Given the description of an element on the screen output the (x, y) to click on. 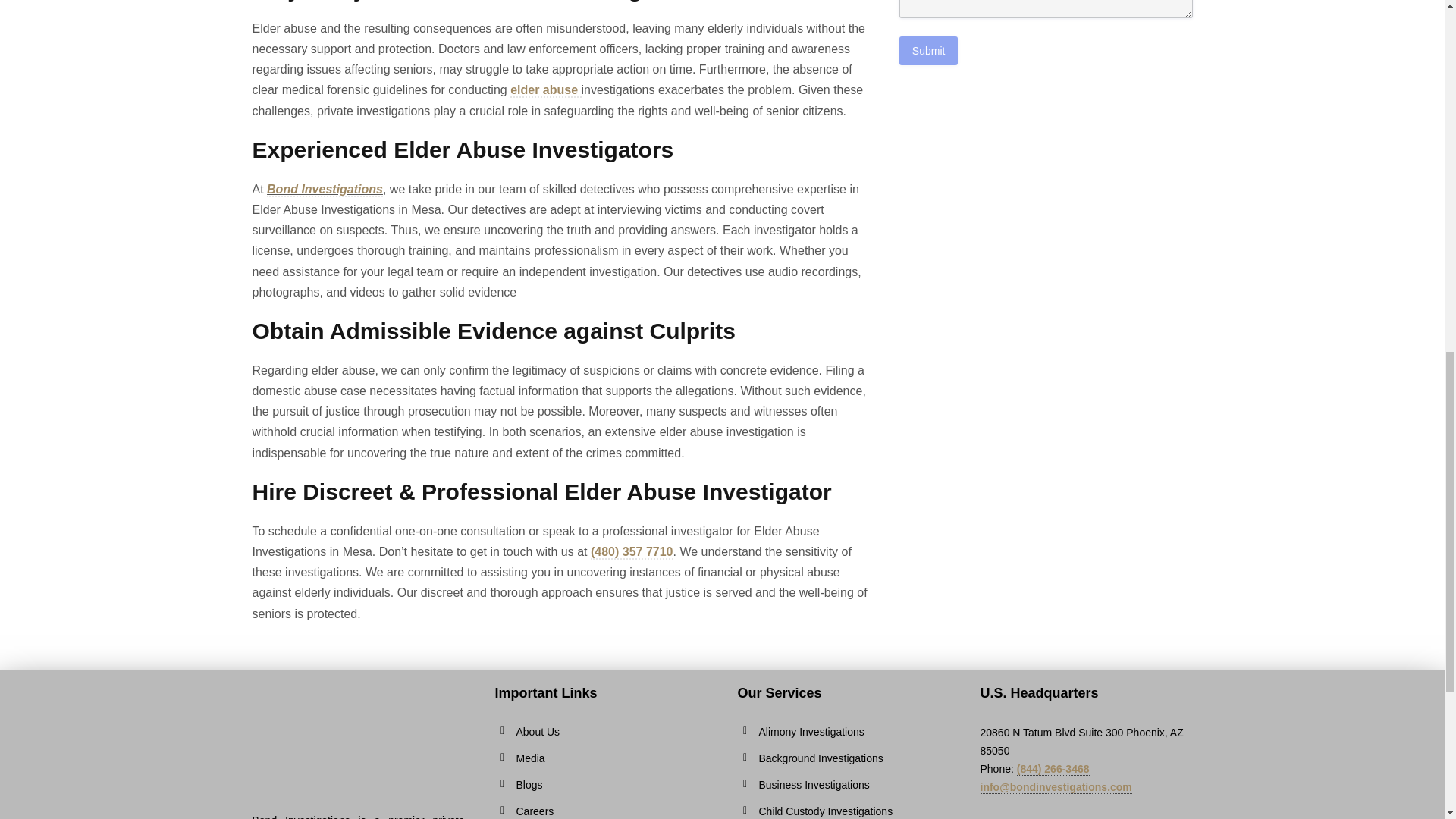
Submit (928, 50)
